Given the description of an element on the screen output the (x, y) to click on. 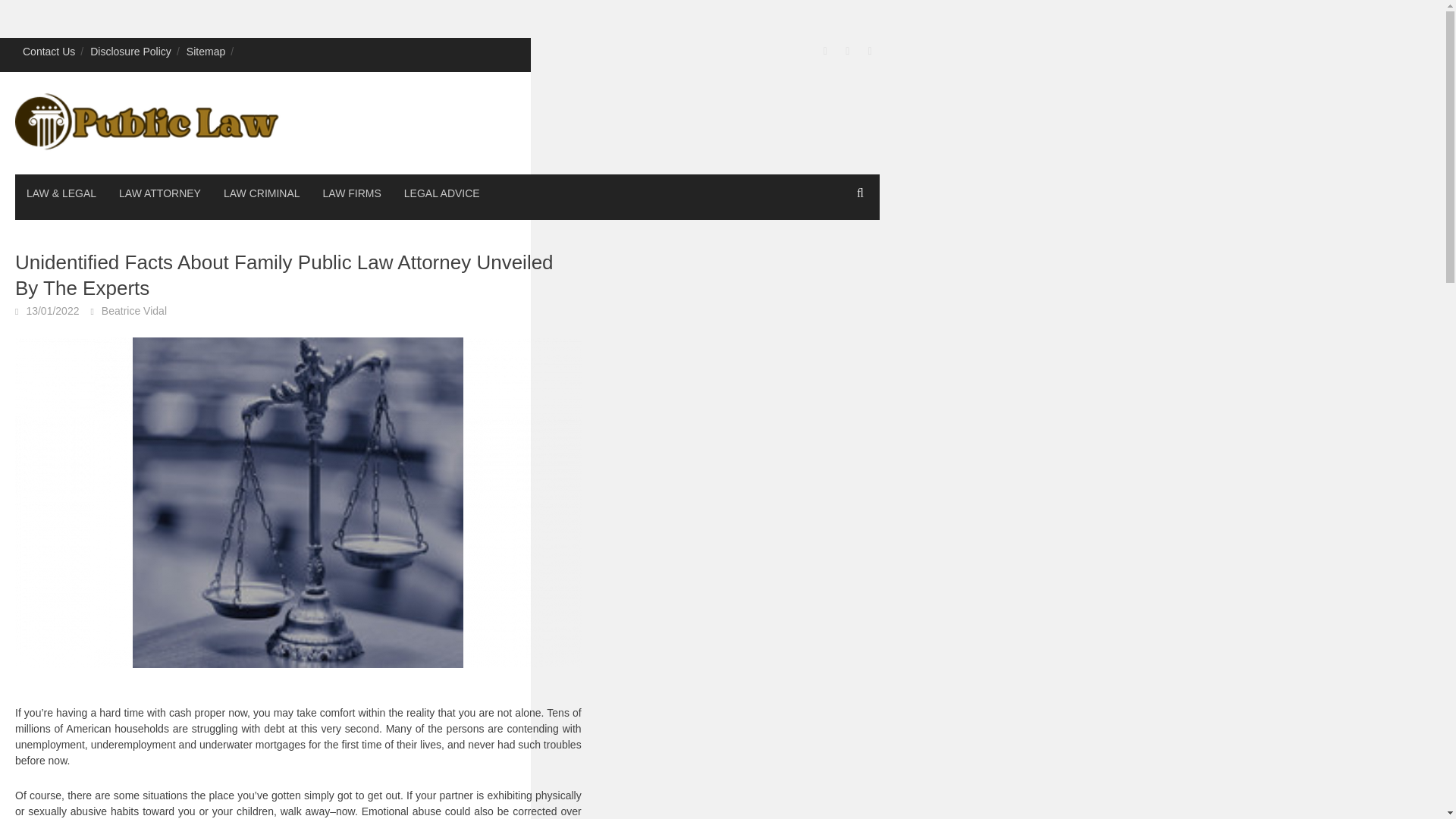
LEGAL ADVICE (442, 193)
Beatrice Vidal (134, 310)
Contact Us (48, 50)
LAW CRIMINAL (261, 193)
LAW ATTORNEY (159, 193)
LAW FIRMS (352, 193)
Sitemap (205, 50)
Disclosure Policy (130, 50)
